Given the description of an element on the screen output the (x, y) to click on. 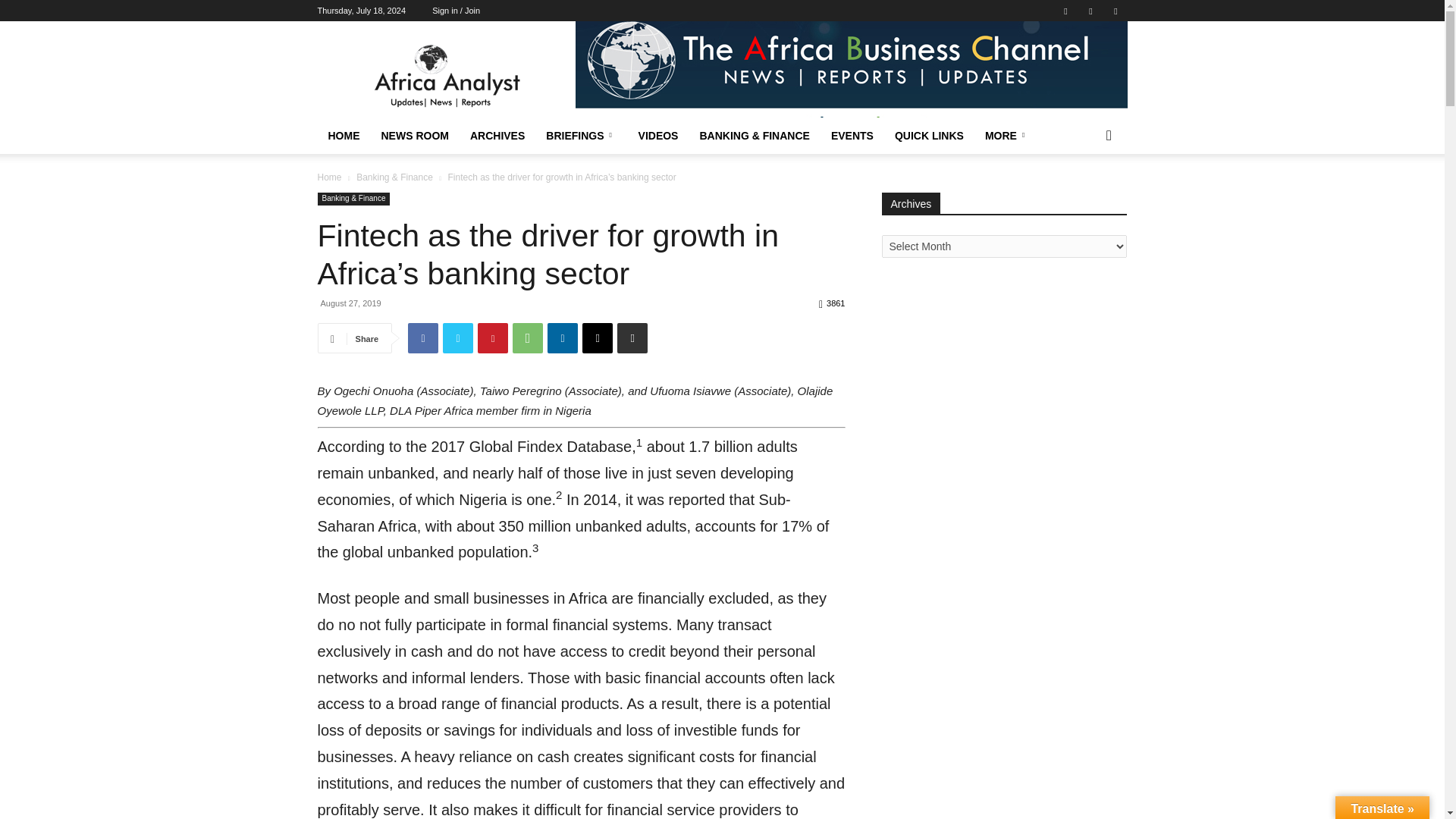
Linkedin (1065, 10)
Youtube (1114, 10)
Twitter (1090, 10)
